Given the description of an element on the screen output the (x, y) to click on. 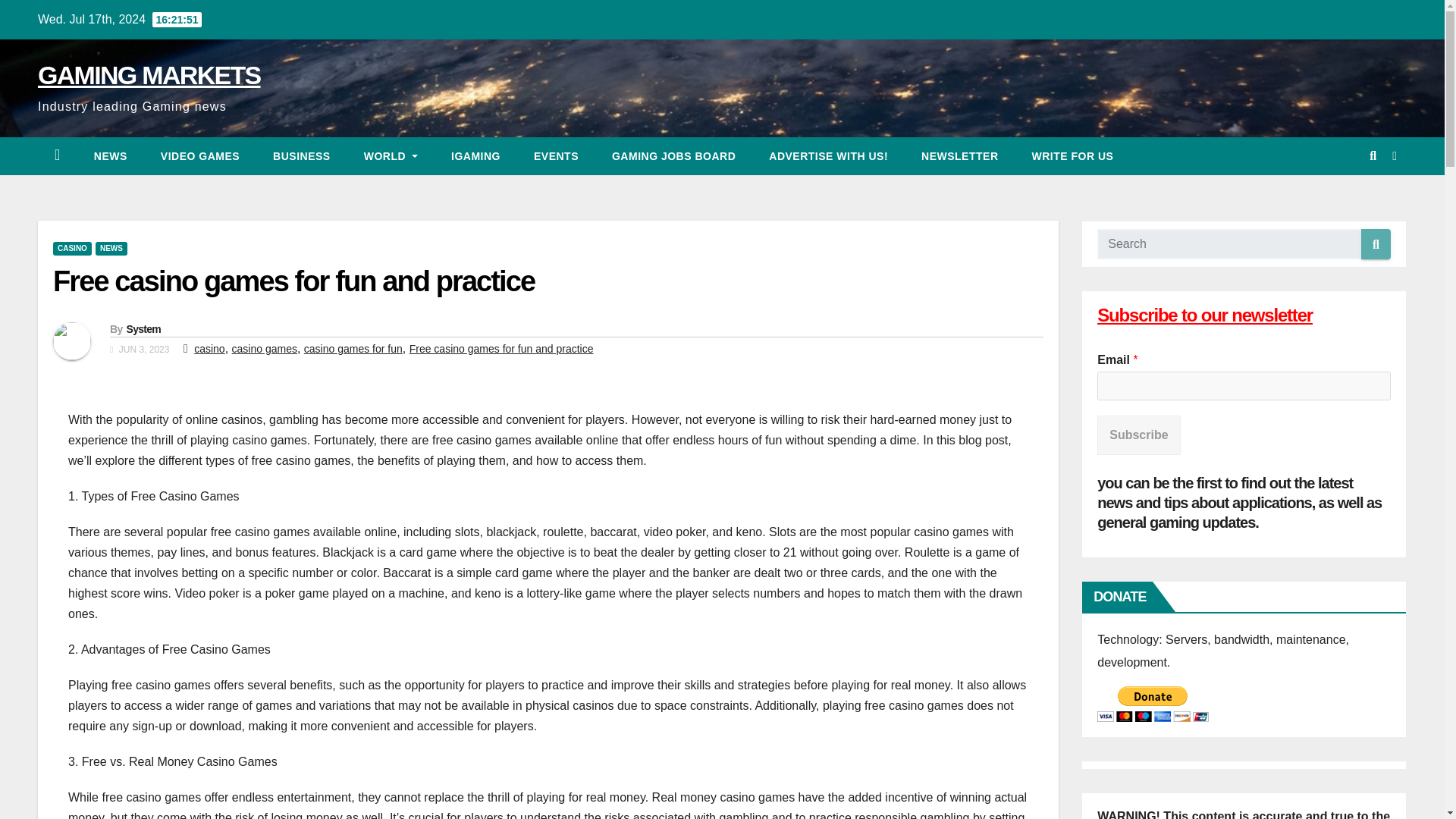
Free casino games for fun and practice (501, 348)
GAMING MARKETS (148, 74)
Business (301, 156)
casino games for fun (353, 348)
NEWSLETTER (959, 156)
EVENTS (555, 156)
VIDEO GAMES (200, 156)
CASINO (71, 248)
ADVERTISE WITH US! (828, 156)
Permalink to: Free casino games for fun and practice (293, 281)
casino (208, 348)
Advertise With Us! (828, 156)
IGAMING (474, 156)
Write for Us (1072, 156)
NEWS (112, 248)
